Given the description of an element on the screen output the (x, y) to click on. 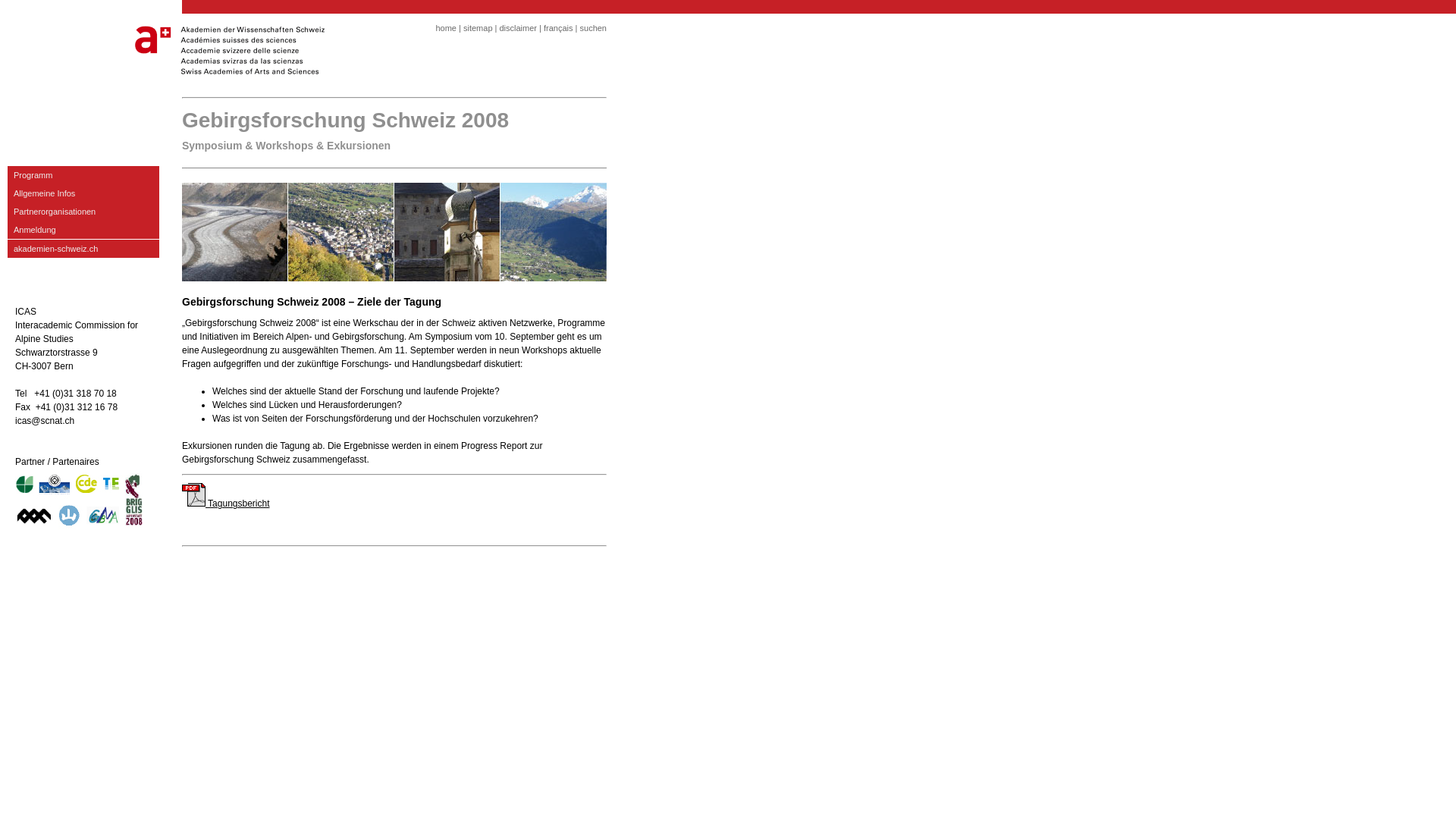
icas@scnat.ch Element type: text (44, 420)
Tagungsbericht Element type: text (225, 503)
ICAS
Interacademic Commission for Alpine Studies Element type: text (76, 325)
akademien-schweiz.ch Element type: text (83, 248)
disclaimer Element type: text (517, 27)
suchen Element type: text (593, 27)
Anmeldung Element type: text (83, 229)
home Element type: text (445, 27)
Allgemeine Infos Element type: text (83, 193)
Partnerorganisationen Element type: text (83, 211)
sitemap Element type: text (477, 27)
Programm Element type: text (83, 175)
